Given the description of an element on the screen output the (x, y) to click on. 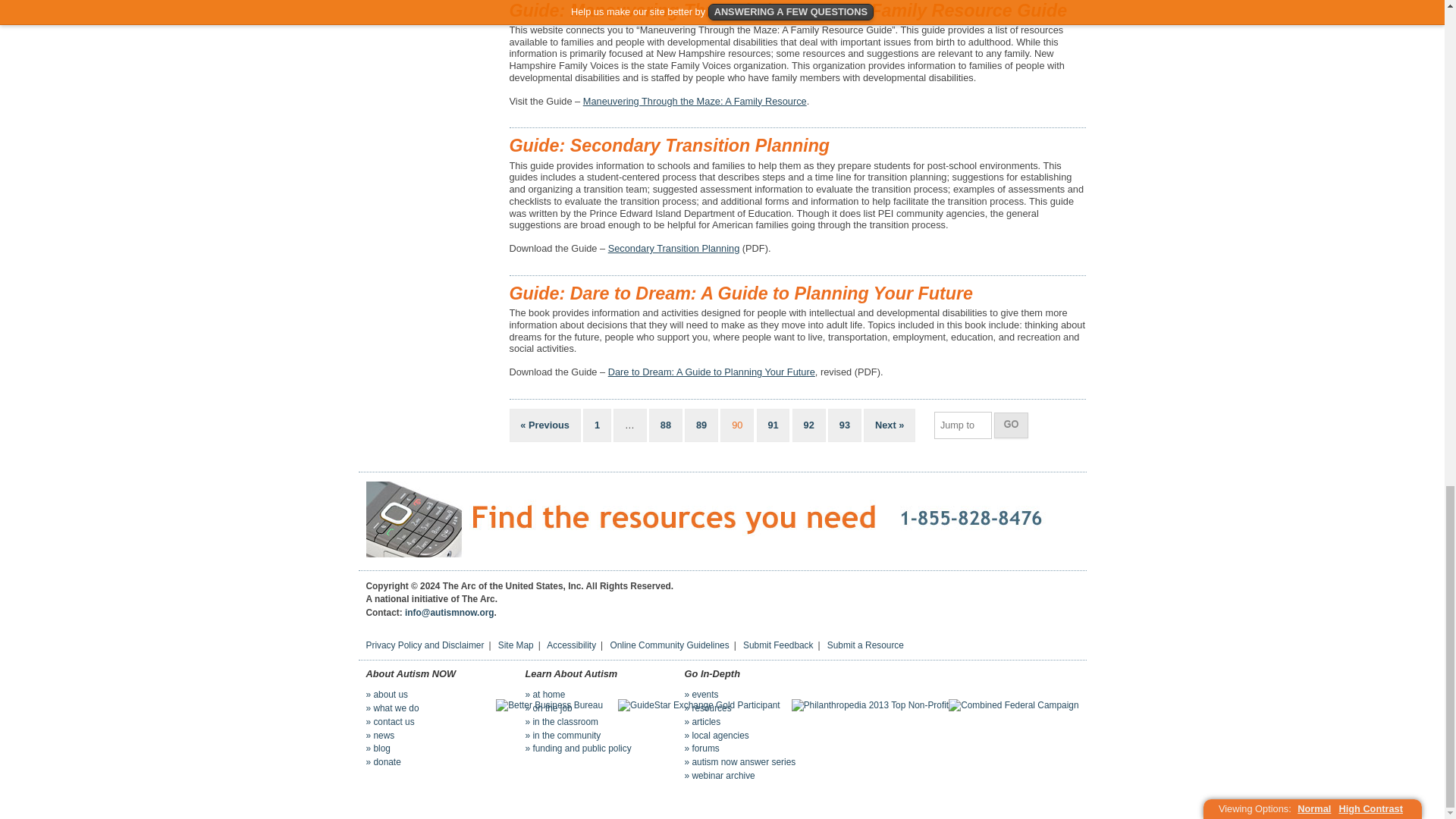
Go (1010, 425)
